Given the description of an element on the screen output the (x, y) to click on. 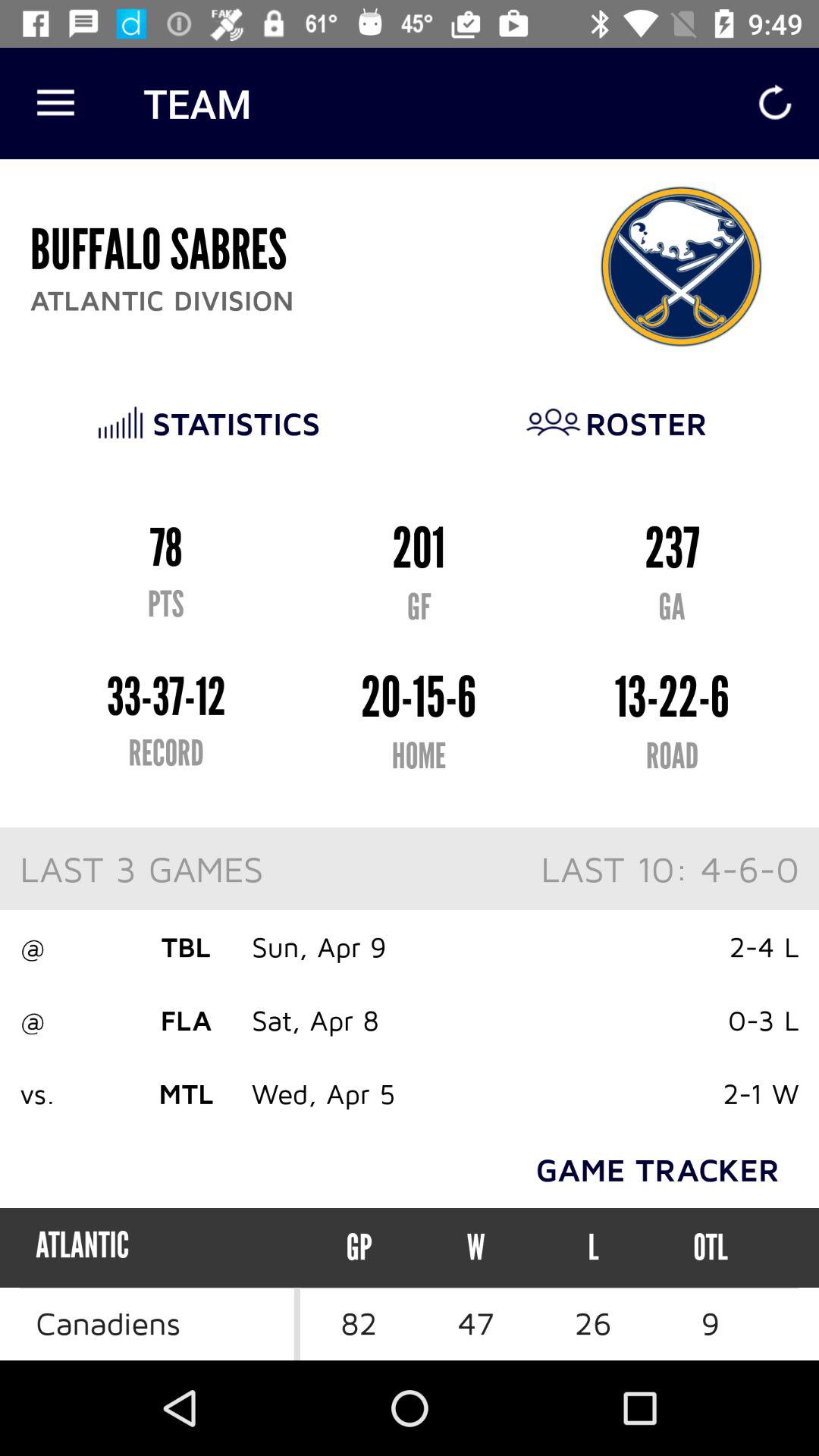
turn on the icon next to the team item (55, 103)
